Given the description of an element on the screen output the (x, y) to click on. 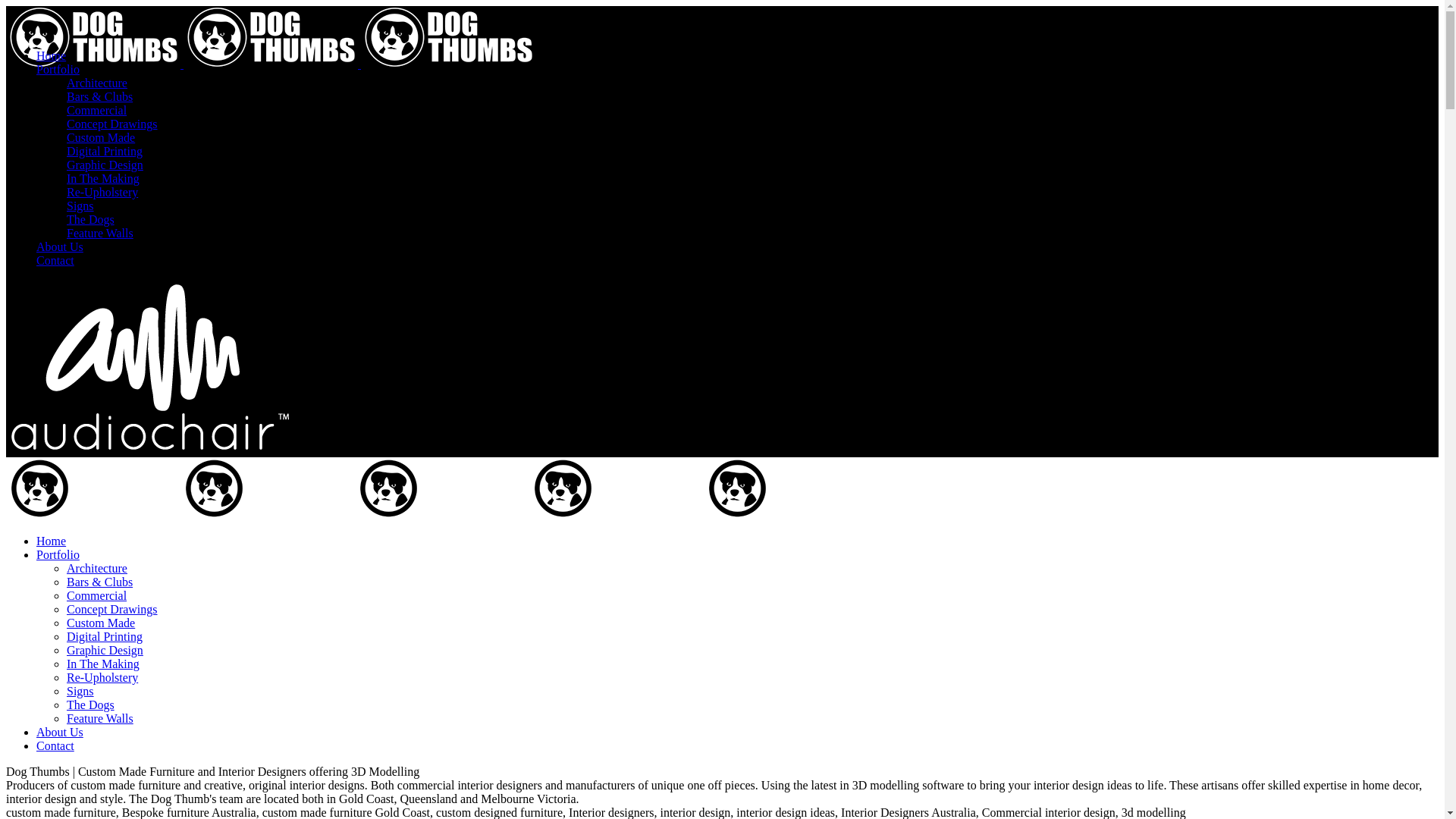
Re-Upholstery Element type: text (102, 677)
In The Making Element type: text (102, 663)
Digital Printing Element type: text (104, 636)
Signs Element type: text (80, 205)
Commercial Element type: text (96, 595)
Bars & Clubs Element type: text (99, 581)
The Dogs Element type: text (90, 704)
Contact Element type: text (55, 745)
Graphic Design Element type: text (104, 649)
Custom Made Element type: text (100, 137)
Contact Element type: text (55, 260)
Home Element type: text (50, 55)
Architecture Element type: text (96, 82)
Custom Made Element type: text (100, 622)
In The Making Element type: text (102, 178)
Bars & Clubs Element type: text (99, 96)
About Us Element type: text (59, 246)
Portfolio Element type: text (57, 68)
Concept Drawings Element type: text (111, 123)
Digital Printing Element type: text (104, 150)
Feature Walls Element type: text (99, 232)
Portfolio Element type: text (57, 554)
Re-Upholstery Element type: text (102, 191)
The Dogs Element type: text (90, 219)
Home Element type: text (50, 540)
Graphic Design Element type: text (104, 164)
Signs Element type: text (80, 690)
Commercial Element type: text (96, 109)
About Us Element type: text (59, 731)
Feature Walls Element type: text (99, 718)
Concept Drawings Element type: text (111, 608)
Architecture Element type: text (96, 567)
